Given the description of an element on the screen output the (x, y) to click on. 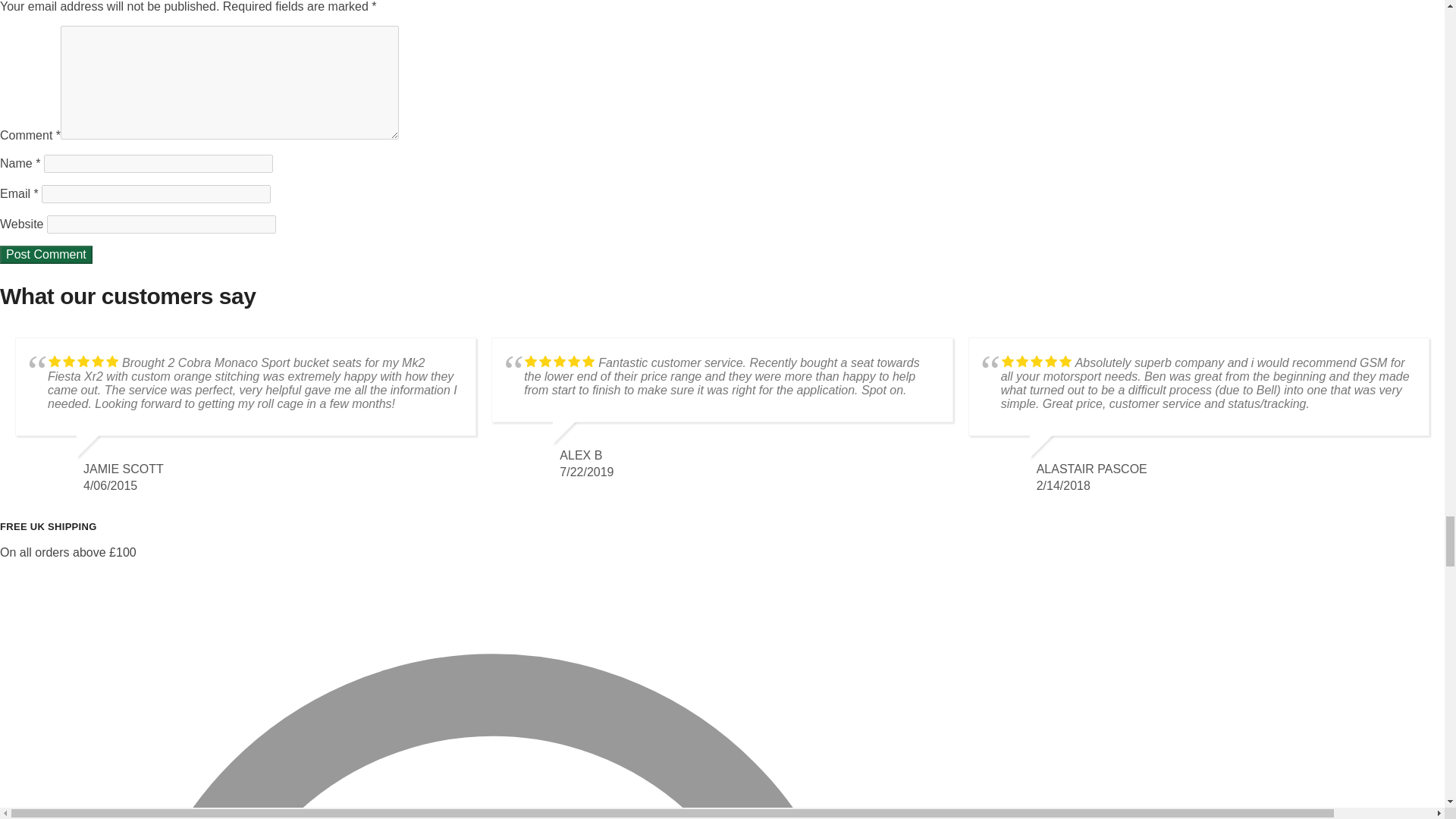
Post Comment (46, 254)
